Given the description of an element on the screen output the (x, y) to click on. 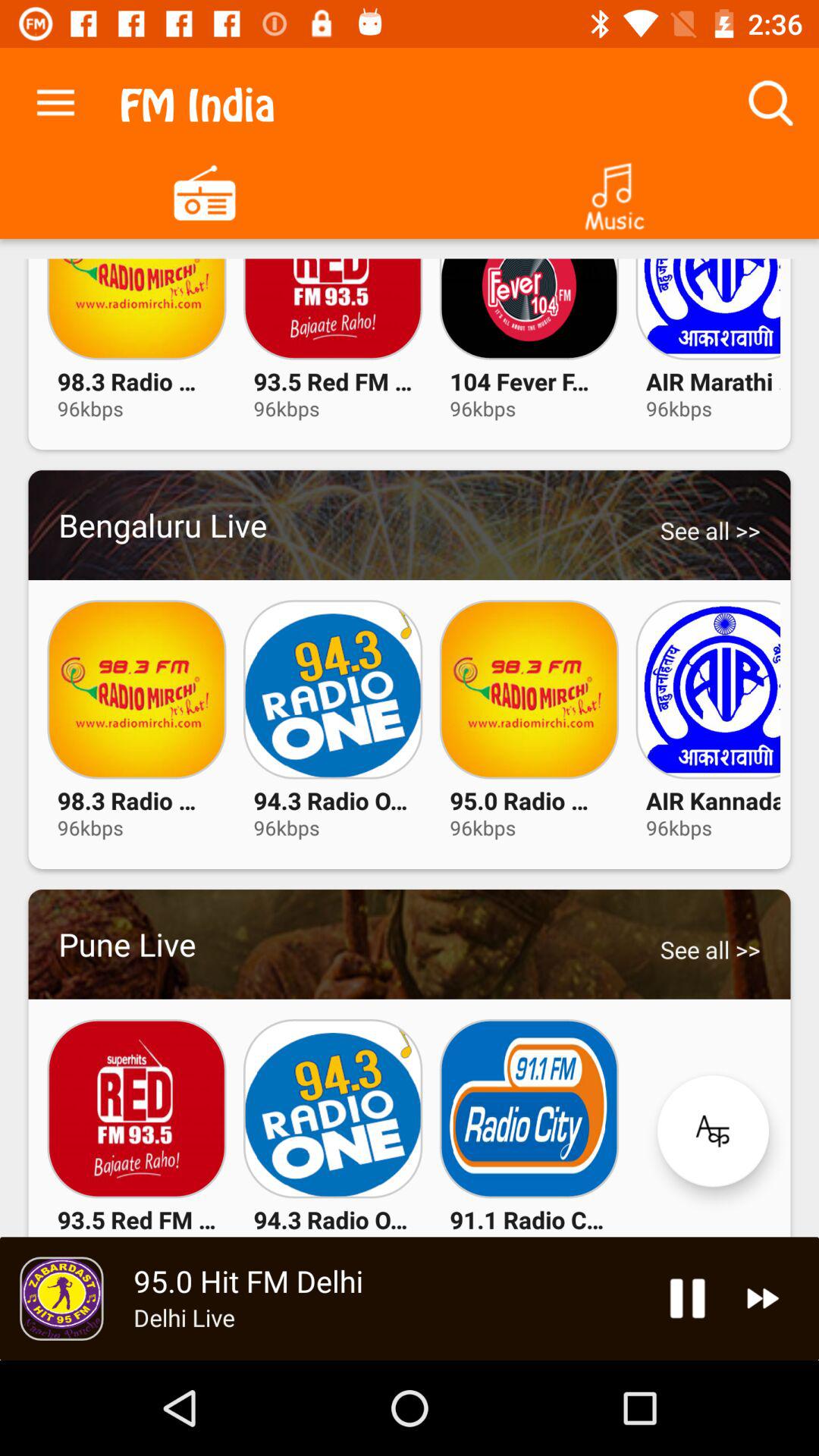
goes to radio stations (204, 190)
